Given the description of an element on the screen output the (x, y) to click on. 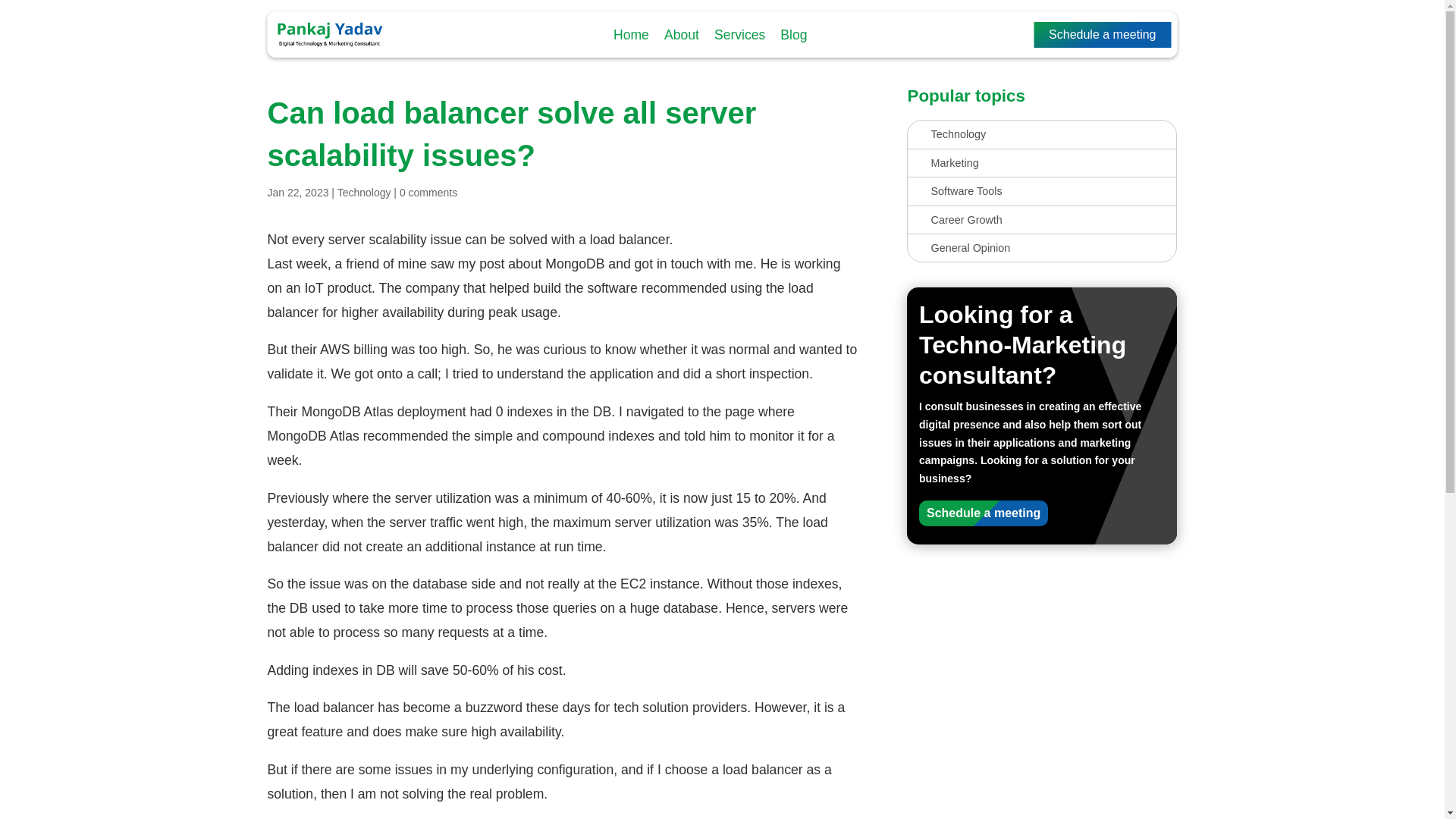
Blog (793, 35)
Schedule a meeting (1101, 34)
Technology (364, 192)
Technology (1041, 134)
Schedule a meeting (983, 513)
Home (630, 35)
Marketing (1041, 162)
Software Tools (1041, 190)
0 comments (427, 192)
Career Growth (1041, 219)
General Opinion (1041, 247)
About (680, 35)
Services (739, 35)
